Given the description of an element on the screen output the (x, y) to click on. 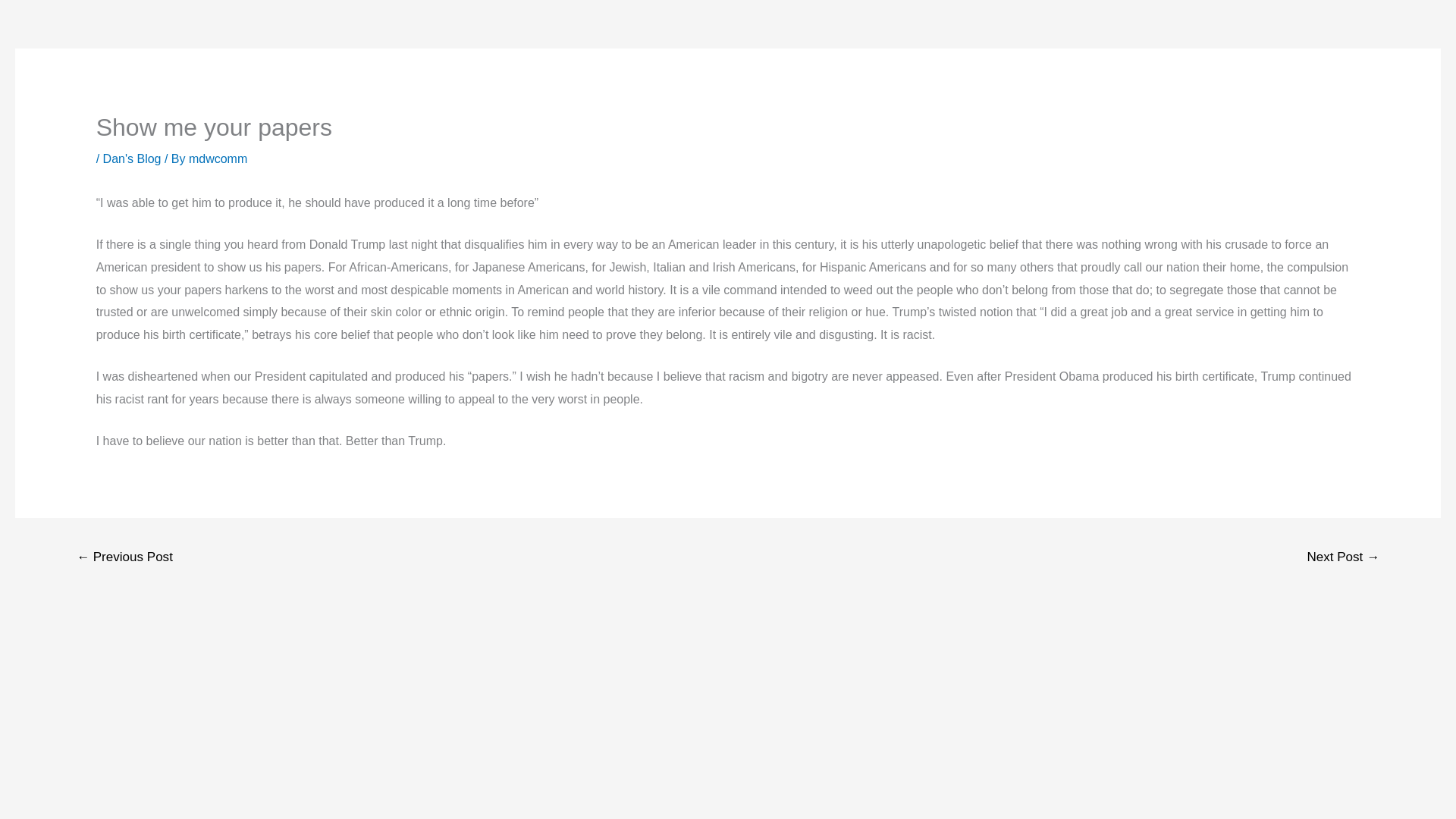
View all posts by mdwcomm (218, 158)
mdwcomm (218, 158)
Dan's Blog (132, 158)
